Given the description of an element on the screen output the (x, y) to click on. 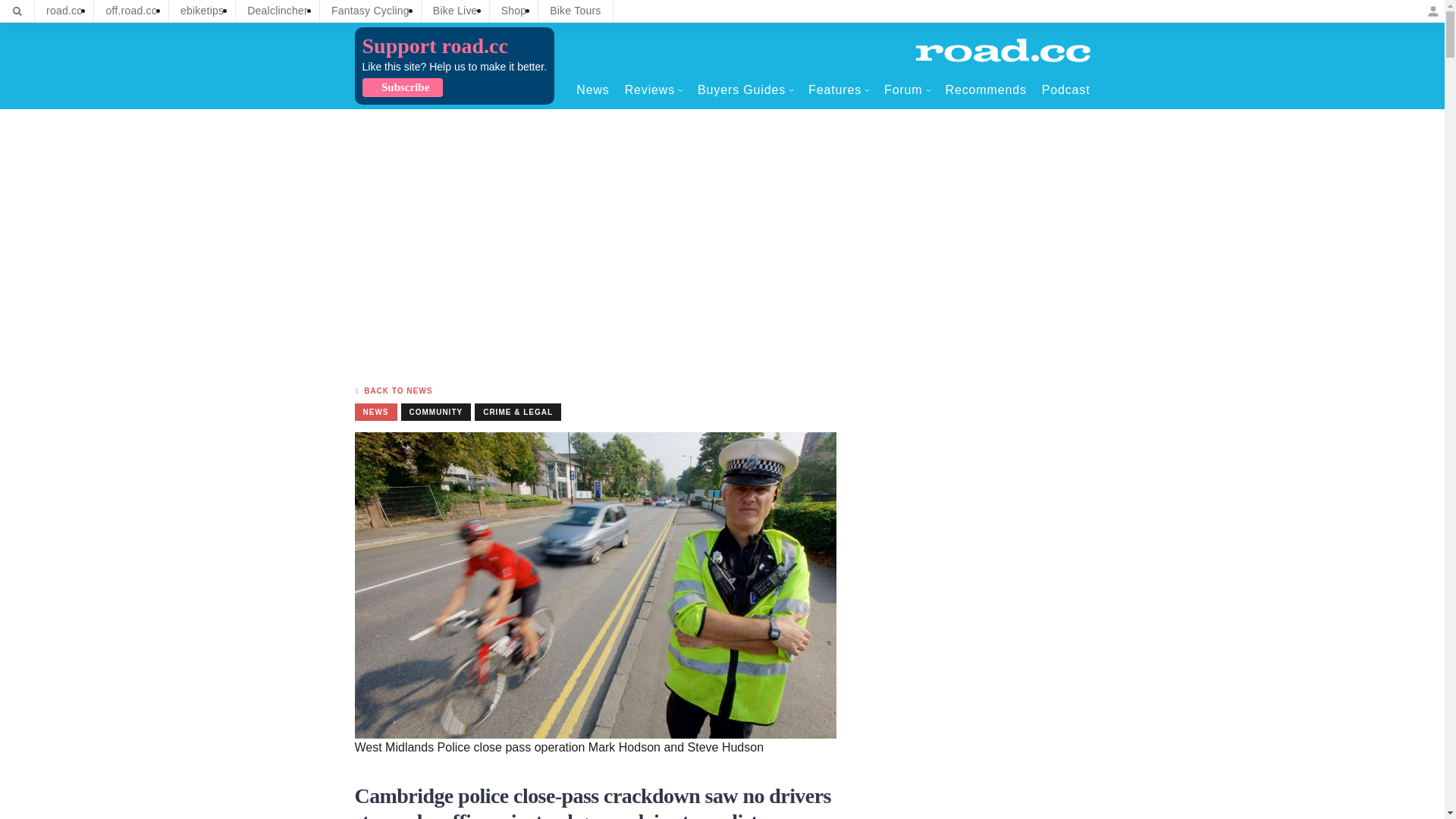
road.cc (63, 11)
off.road.cc (131, 11)
Fantasy Cycling (370, 11)
Home (1002, 50)
Dealclincher (276, 11)
Bike Live (455, 11)
Bike Tours (574, 11)
Reviews (653, 89)
ebiketips (201, 11)
Shop (513, 11)
